Given the description of an element on the screen output the (x, y) to click on. 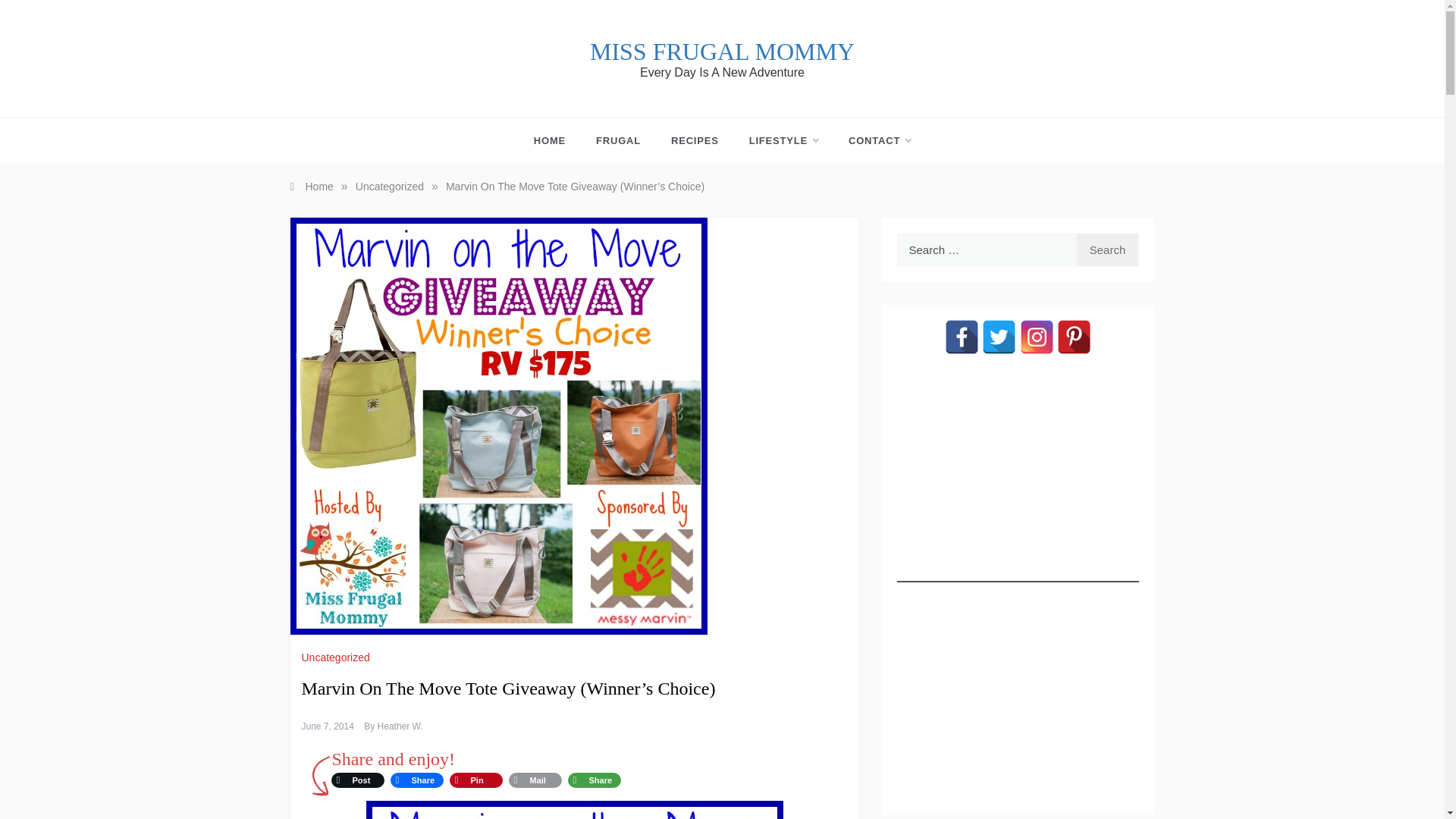
Facebook (416, 780)
Uncategorized (389, 186)
HOME (557, 140)
Search (1107, 249)
MISS FRUGAL MOMMY (721, 51)
Pinterest (475, 780)
Uncategorized (337, 657)
LIFESTYLE (782, 140)
Heather W. (400, 726)
Home (311, 186)
Search (1107, 249)
FRUGAL (618, 140)
Facebook (961, 336)
Twitter (998, 336)
Email This (534, 780)
